Given the description of an element on the screen output the (x, y) to click on. 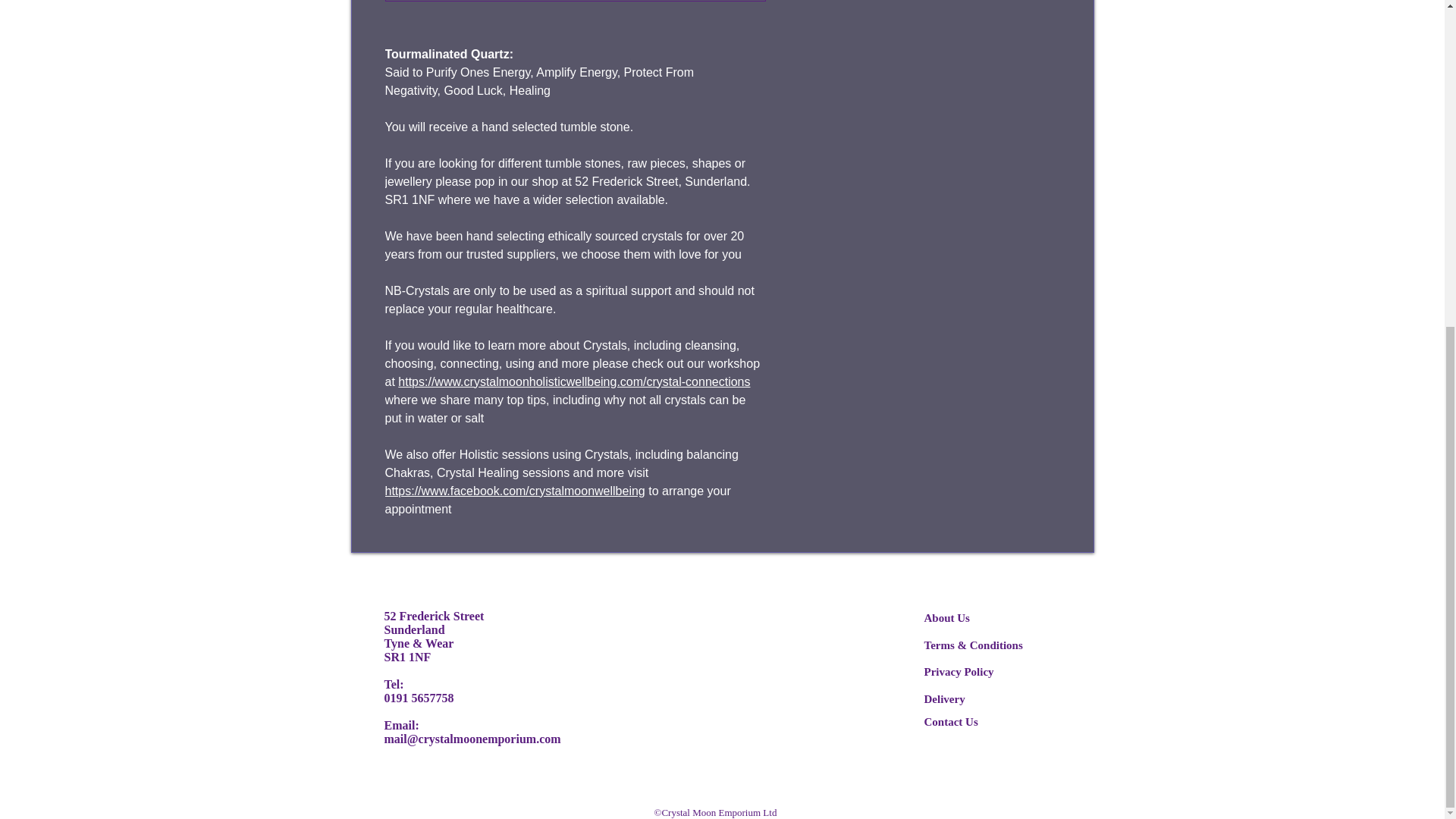
About Us (946, 617)
Contact Us (949, 721)
